Given the description of an element on the screen output the (x, y) to click on. 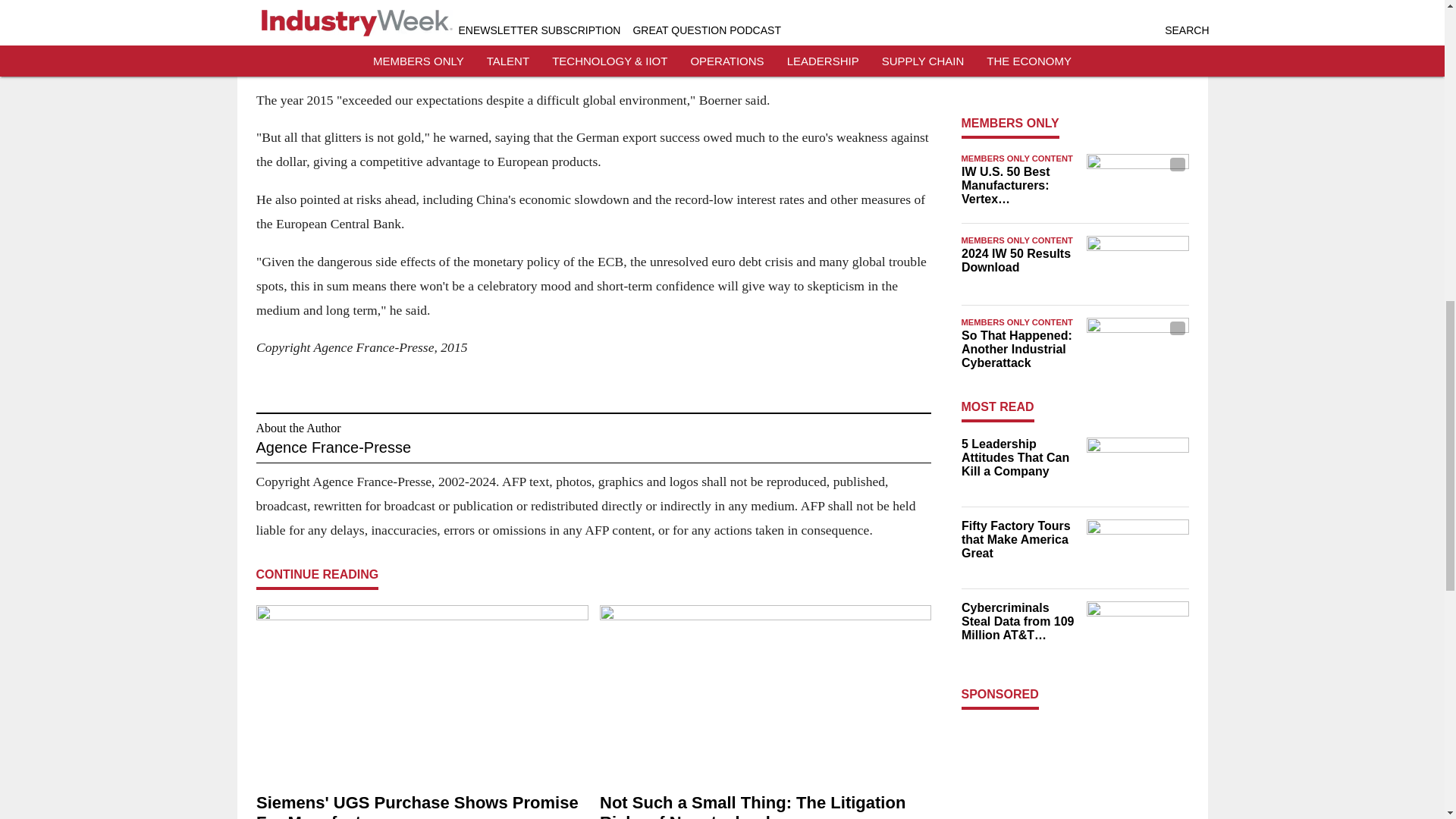
So That Happened: Another Industrial Cyberattack (1019, 349)
2024 IW 50 Results Download (1019, 260)
MEMBERS ONLY (1009, 123)
Siemens' UGS Purchase Shows Promise For Manufacturers (422, 806)
